Given the description of an element on the screen output the (x, y) to click on. 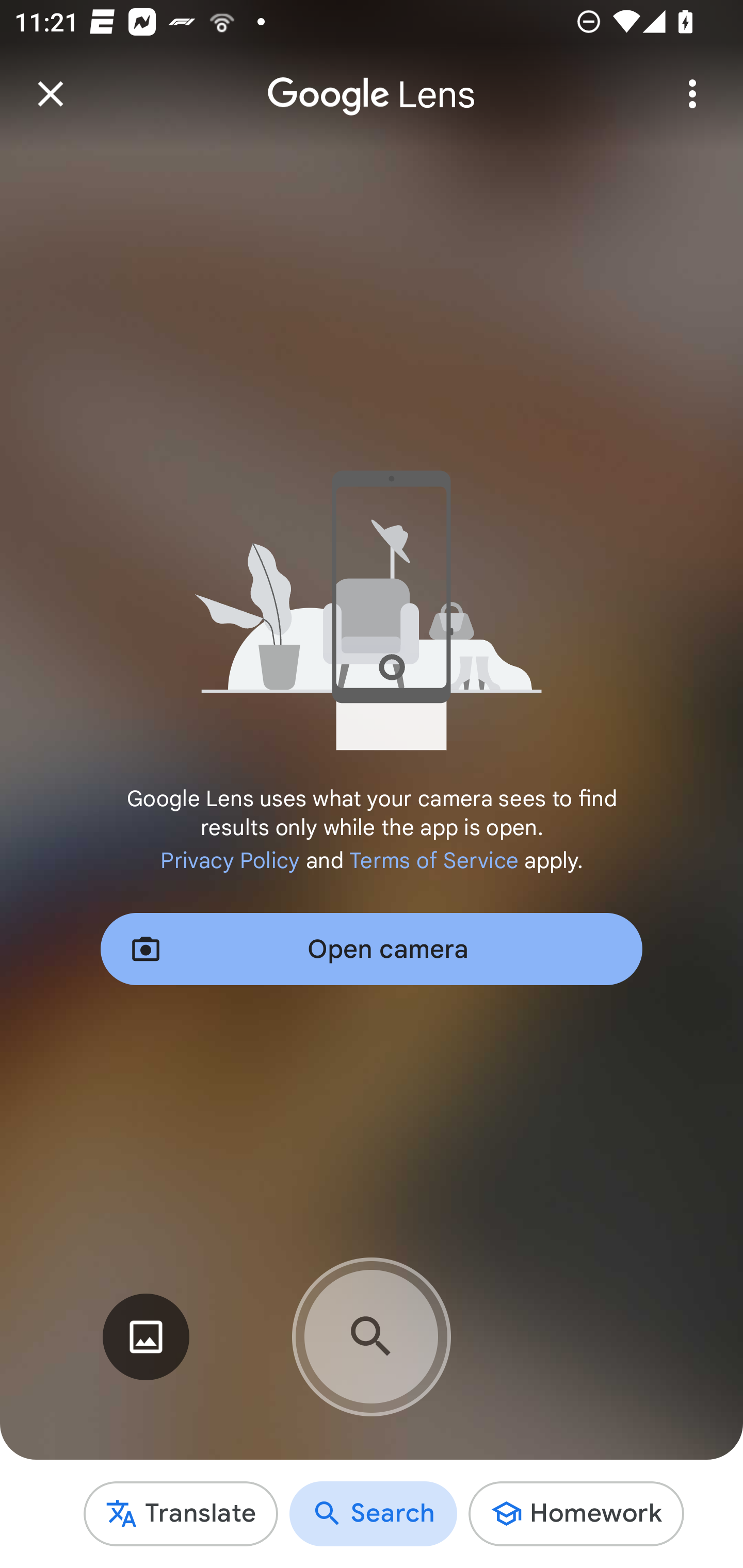
Google Lens Lens (371, 80)
Close (50, 94)
More options (692, 94)
Open camera (371, 949)
Camera search (371, 1336)
Select an image from gallery (145, 1336)
Translate Switch to Translate mode (180, 1513)
Search Switch to Search mode (372, 1513)
Homework Switch to Homework mode (575, 1513)
